Given the description of an element on the screen output the (x, y) to click on. 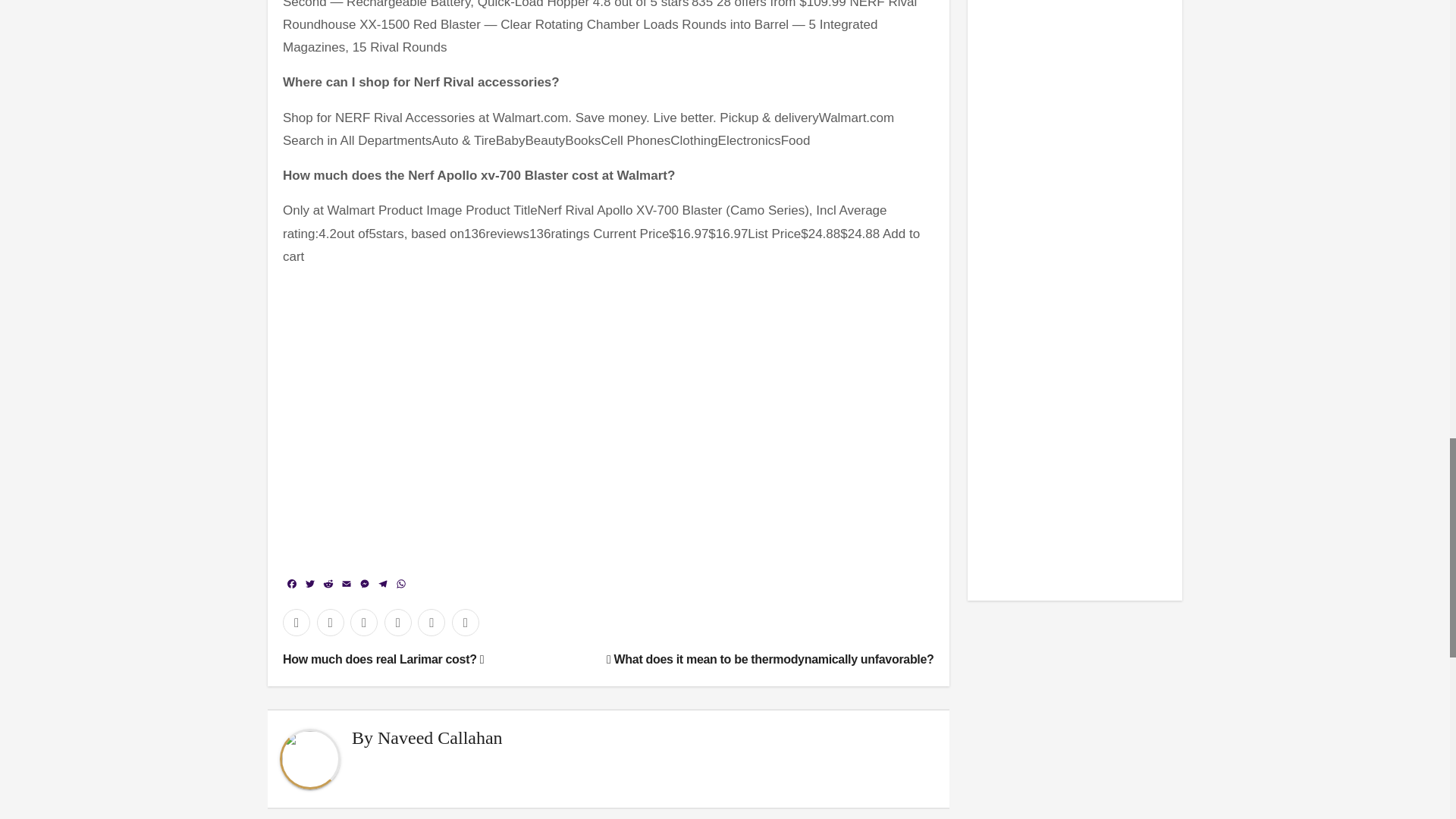
Email (346, 585)
Reddit (327, 585)
Nerf Rival Tactical Rig And Strap Reviewed (525, 416)
Facebook (291, 585)
Twitter (309, 585)
